Given the description of an element on the screen output the (x, y) to click on. 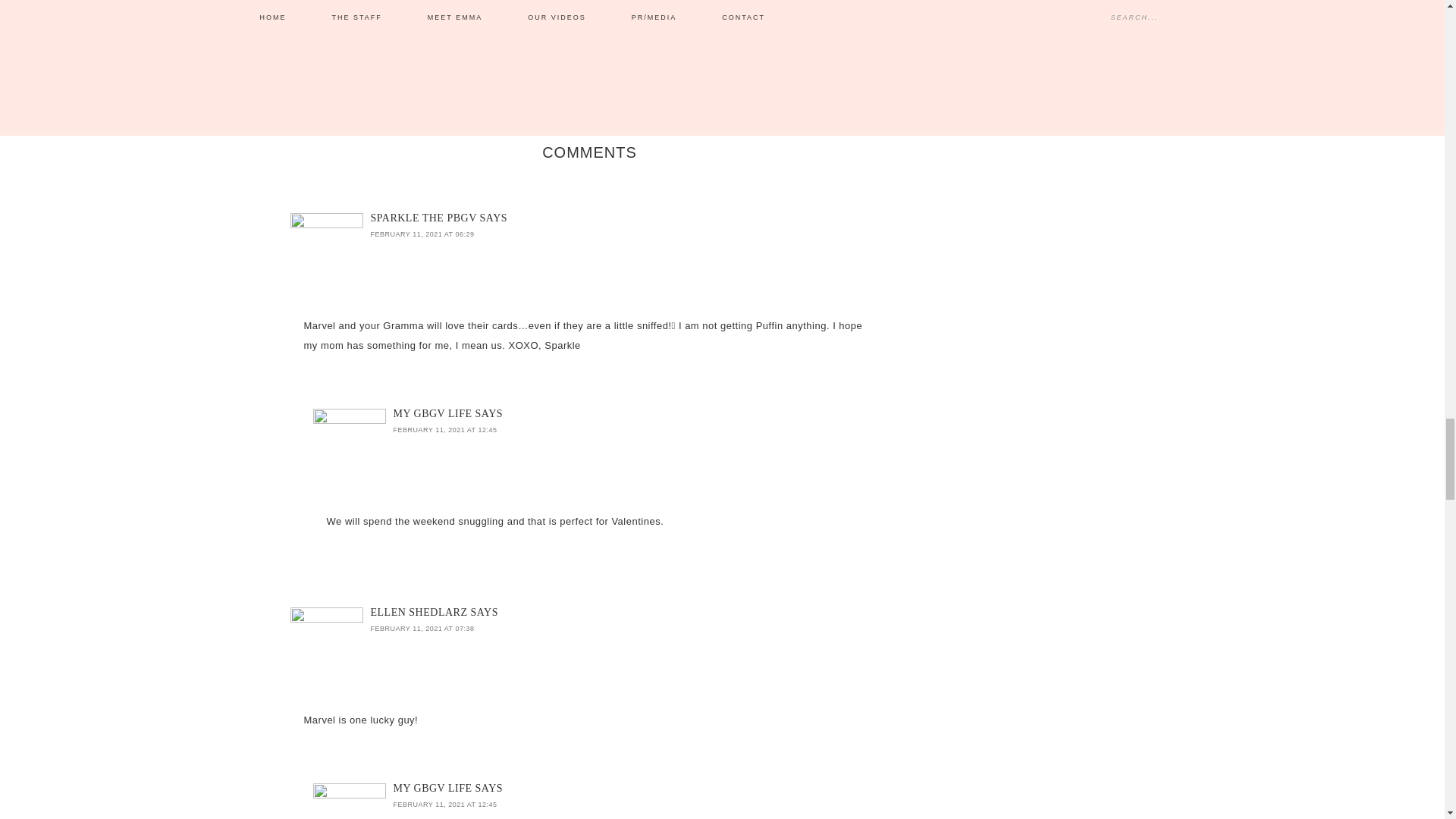
FEBRUARY 11, 2021 AT 07:38 (421, 628)
scratch and sniff valentines (718, 28)
FEBRUARY 11, 2021 AT 12:45 (444, 804)
FEBRUARY 11, 2021 AT 12:45 (444, 429)
FEBRUARY 11, 2021 AT 06:29 (421, 234)
GBGV (489, 29)
HOLIDAYS (524, 29)
dog valentines (629, 28)
valentines (800, 28)
